Given the description of an element on the screen output the (x, y) to click on. 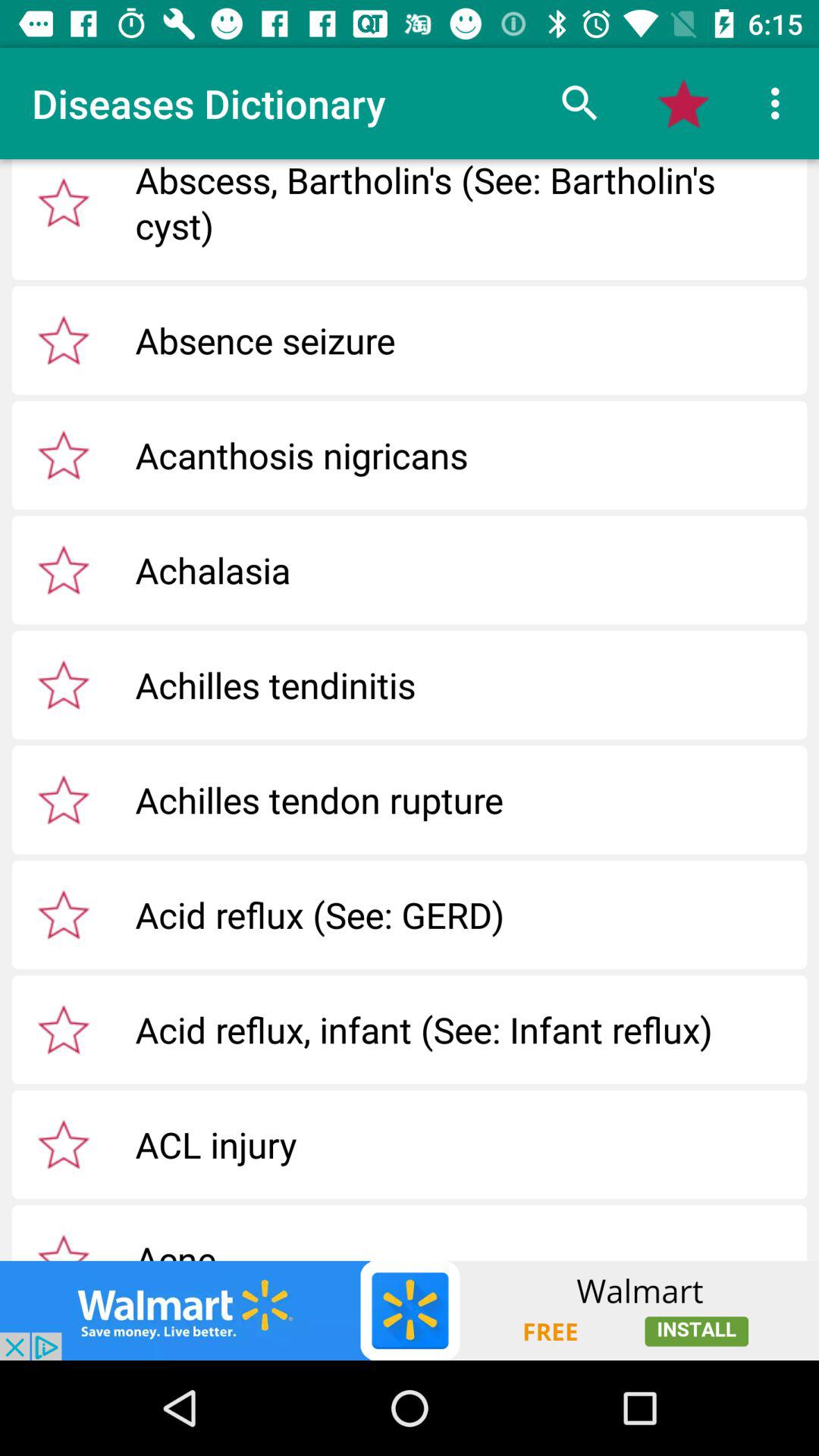
click star option (63, 1029)
